Given the description of an element on the screen output the (x, y) to click on. 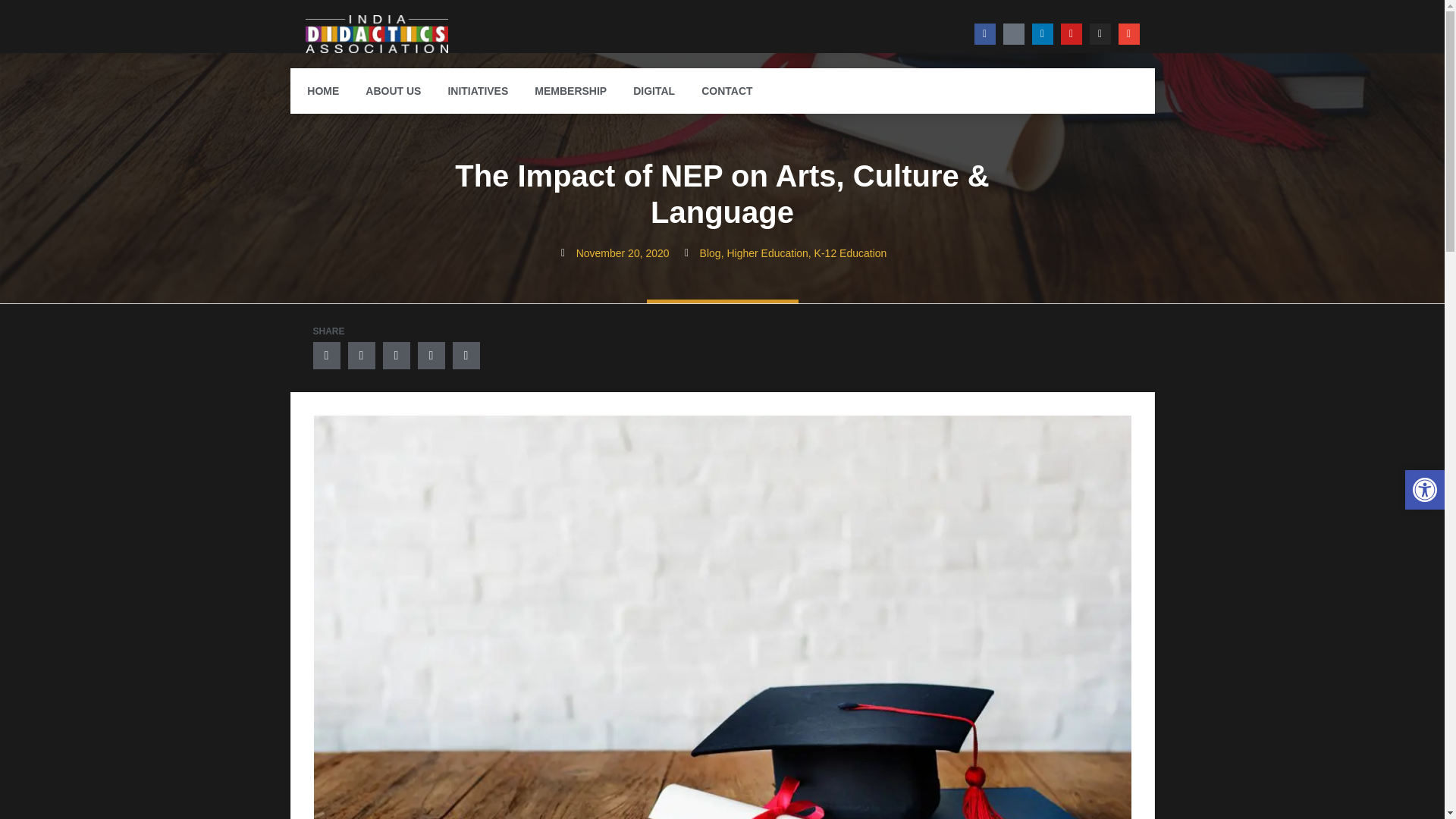
CONTACT (726, 90)
DIGITAL (654, 90)
INITIATIVES (477, 90)
ABOUT US (392, 90)
Accessibility Tools (1424, 489)
MEMBERSHIP (570, 90)
